Given the description of an element on the screen output the (x, y) to click on. 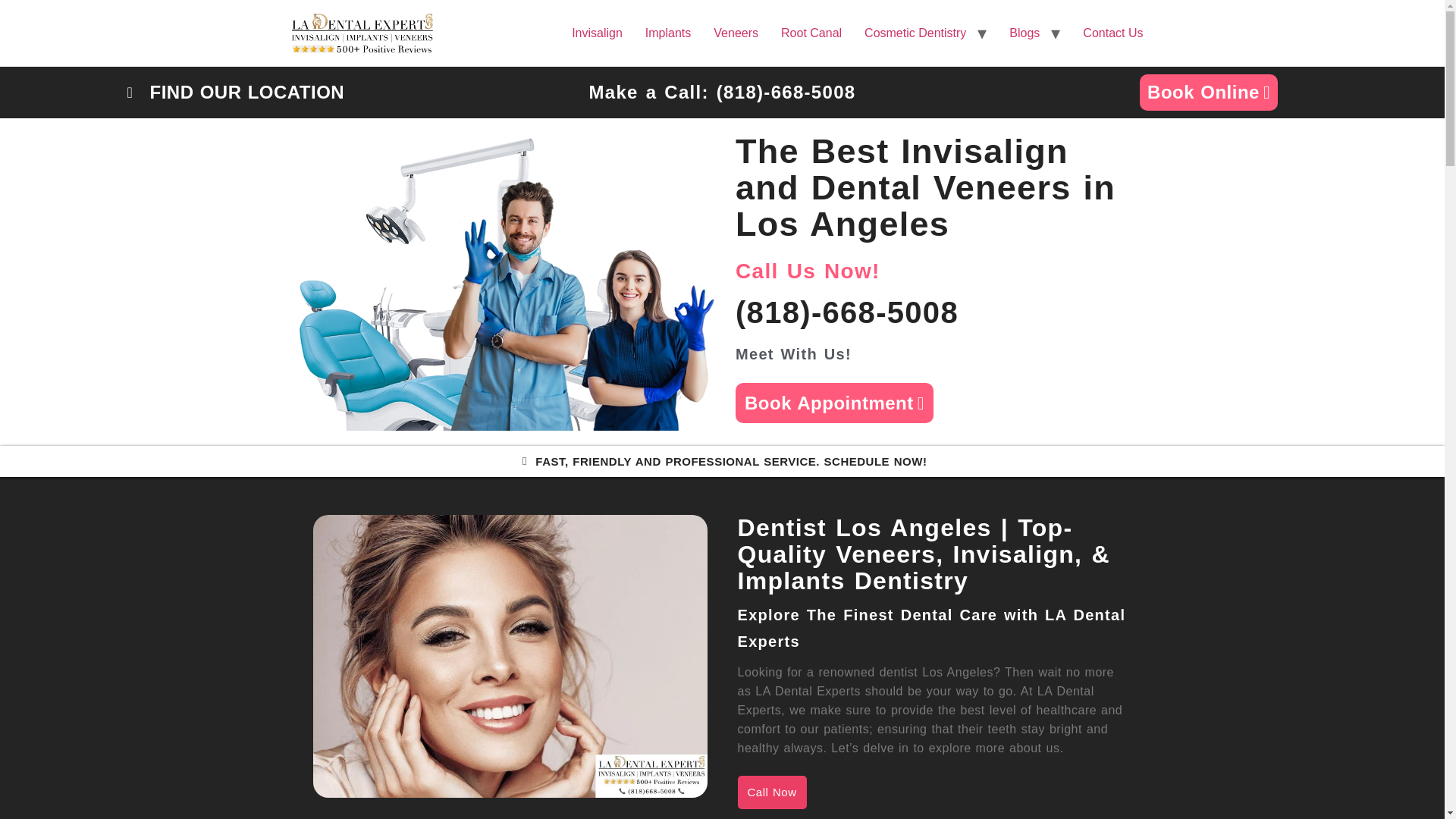
Cosmetic Dentistry (914, 33)
Blogs (1024, 33)
Invisalign (596, 33)
Implants (667, 33)
Root Canal (811, 33)
Veneers (735, 33)
